Given the description of an element on the screen output the (x, y) to click on. 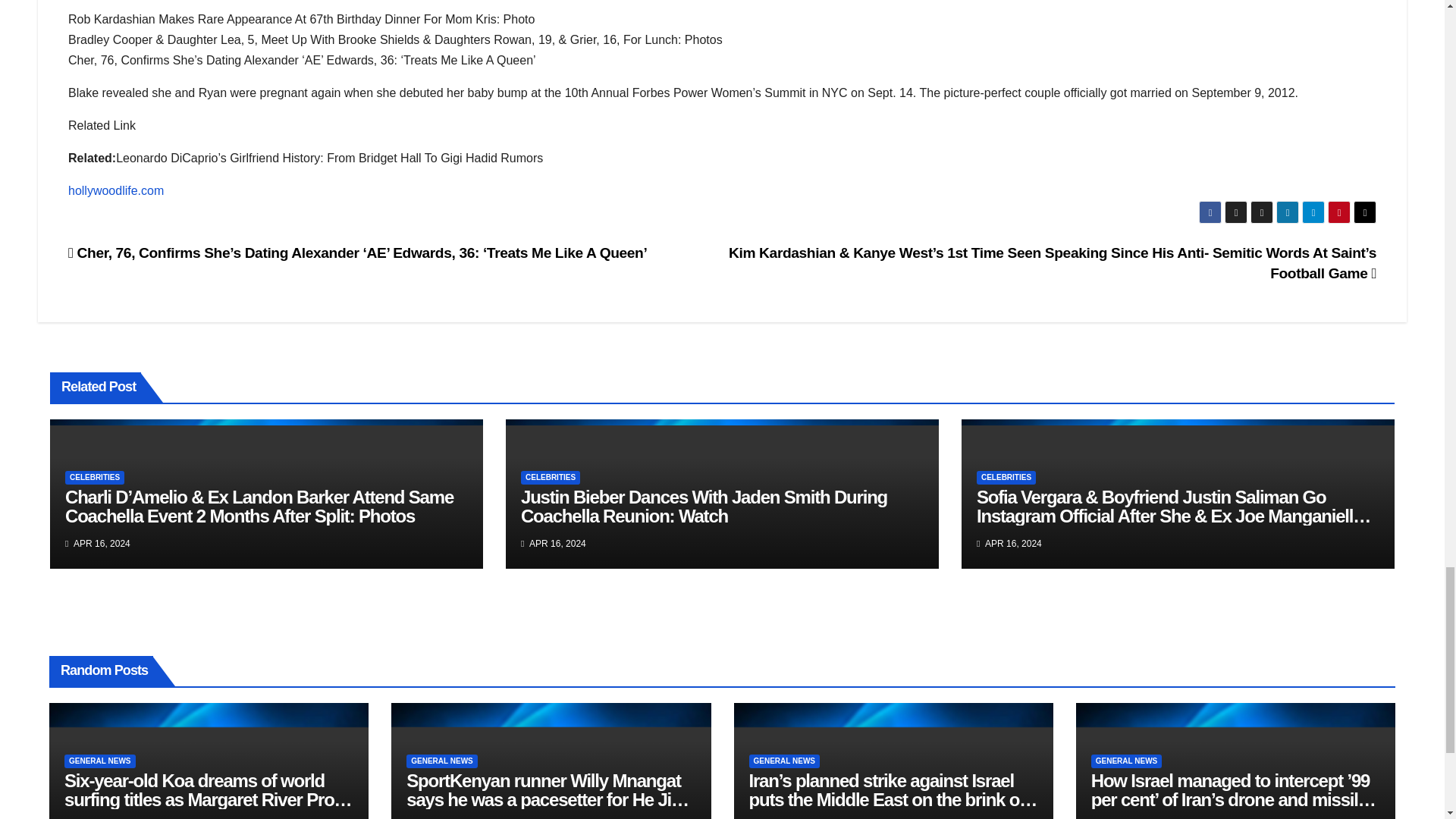
CELEBRITIES (550, 477)
GENERAL NEWS (441, 761)
CELEBRITIES (1005, 477)
CELEBRITIES (94, 477)
